Given the description of an element on the screen output the (x, y) to click on. 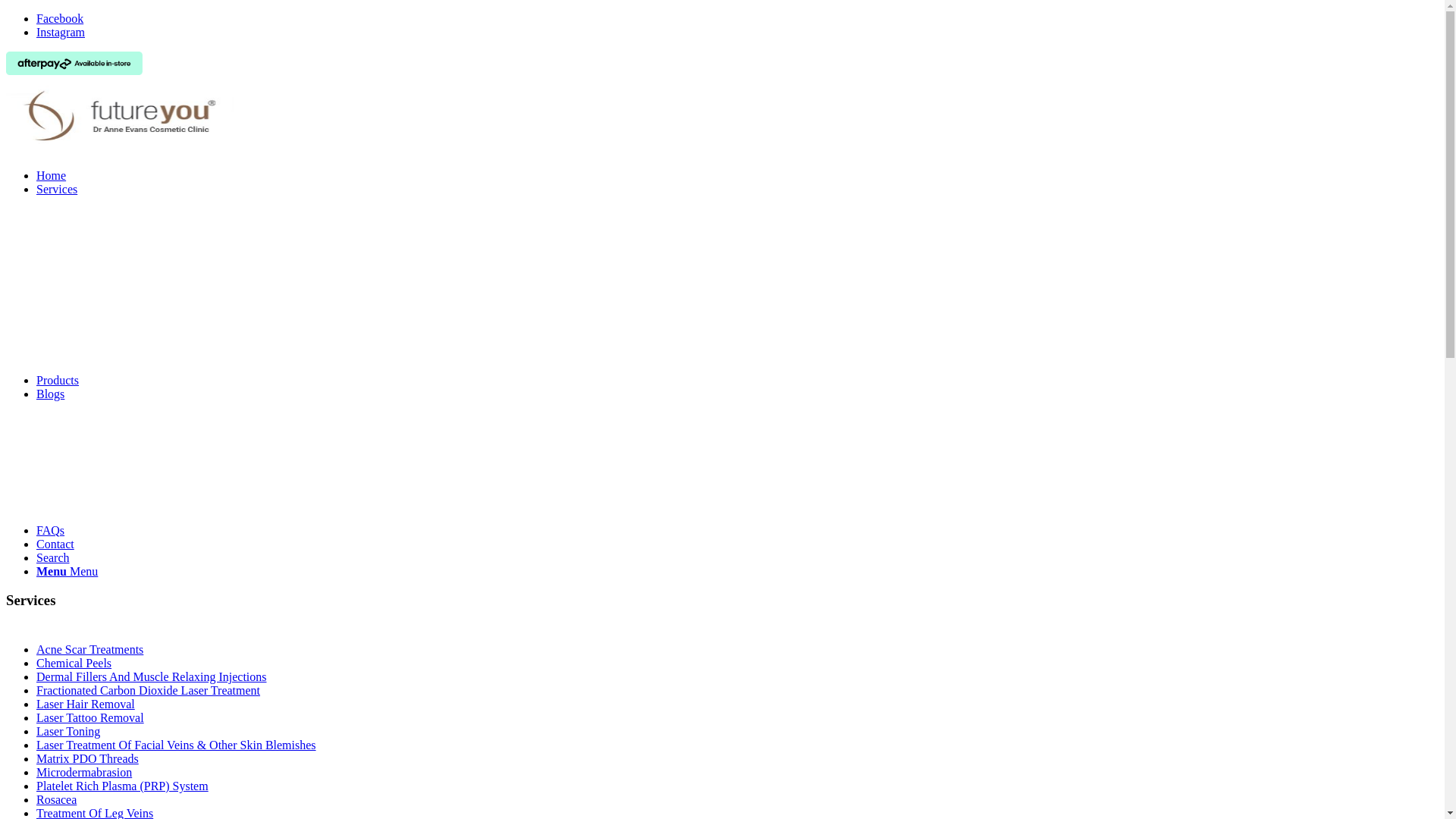
Matrix PDO Threads Element type: text (87, 758)
Blogs Element type: text (50, 393)
Menu Menu Element type: text (66, 570)
Laser Treatment Of Facial Veins & Other Skin Blemishes Element type: text (176, 744)
Products Element type: text (57, 379)
Laser Tattoo Removal Element type: text (90, 717)
Rosacea Element type: text (56, 799)
Fractionated Carbon Dioxide Laser Treatment Element type: text (148, 690)
futureyou Element type: hover (119, 115)
Services Element type: text (56, 188)
Home Element type: text (50, 175)
Platelet Rich Plasma (PRP) System Element type: text (122, 785)
Facebook Element type: text (59, 18)
Acne Scar Treatments Element type: text (89, 649)
Instagram Element type: text (60, 31)
Laser Hair Removal Element type: text (85, 703)
Microdermabrasion Element type: text (83, 771)
Contact Element type: text (55, 543)
Chemical Peels Element type: text (73, 662)
Search Element type: text (52, 557)
Dermal Fillers And Muscle Relaxing Injections Element type: text (151, 676)
FAQs Element type: text (50, 530)
Laser Toning Element type: text (68, 730)
